Given the description of an element on the screen output the (x, y) to click on. 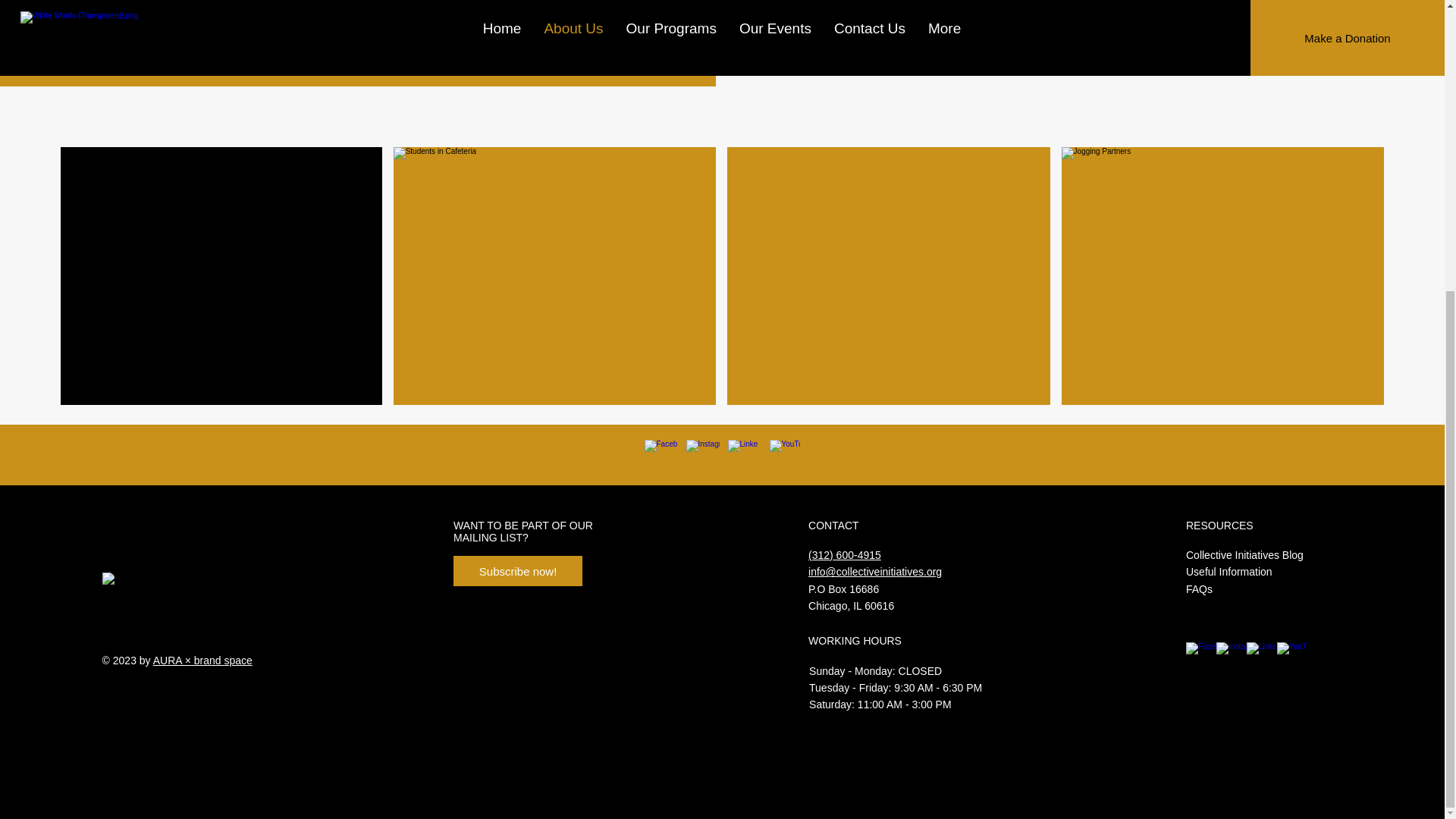
Subscribe now! (517, 571)
